Given the description of an element on the screen output the (x, y) to click on. 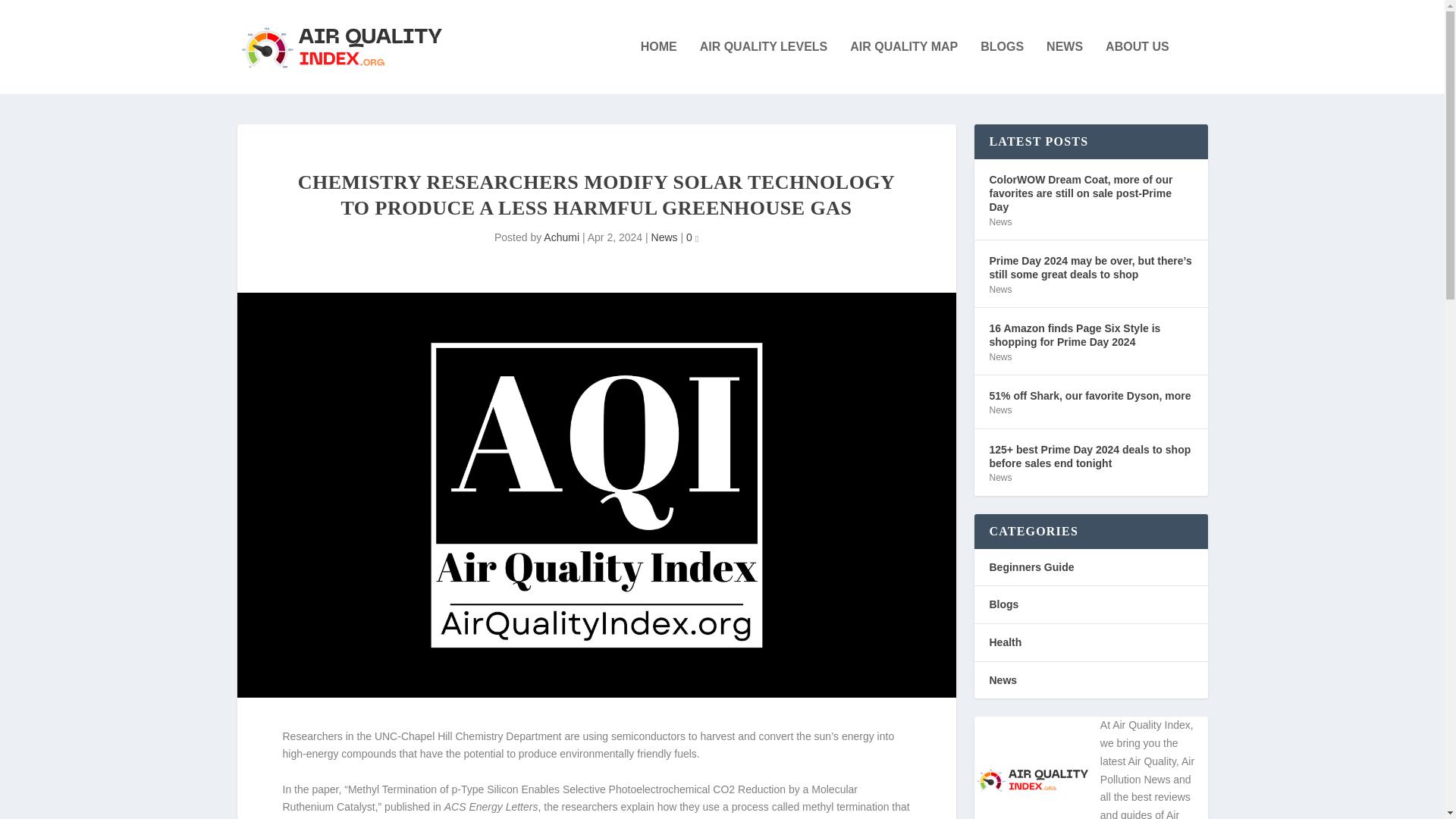
News (999, 357)
Achumi (561, 236)
0 (691, 236)
AIR QUALITY LEVELS (764, 67)
ABOUT US (1137, 67)
Posts by Achumi (561, 236)
AIR QUALITY MAP (904, 67)
News (999, 289)
News (664, 236)
News (999, 222)
